Given the description of an element on the screen output the (x, y) to click on. 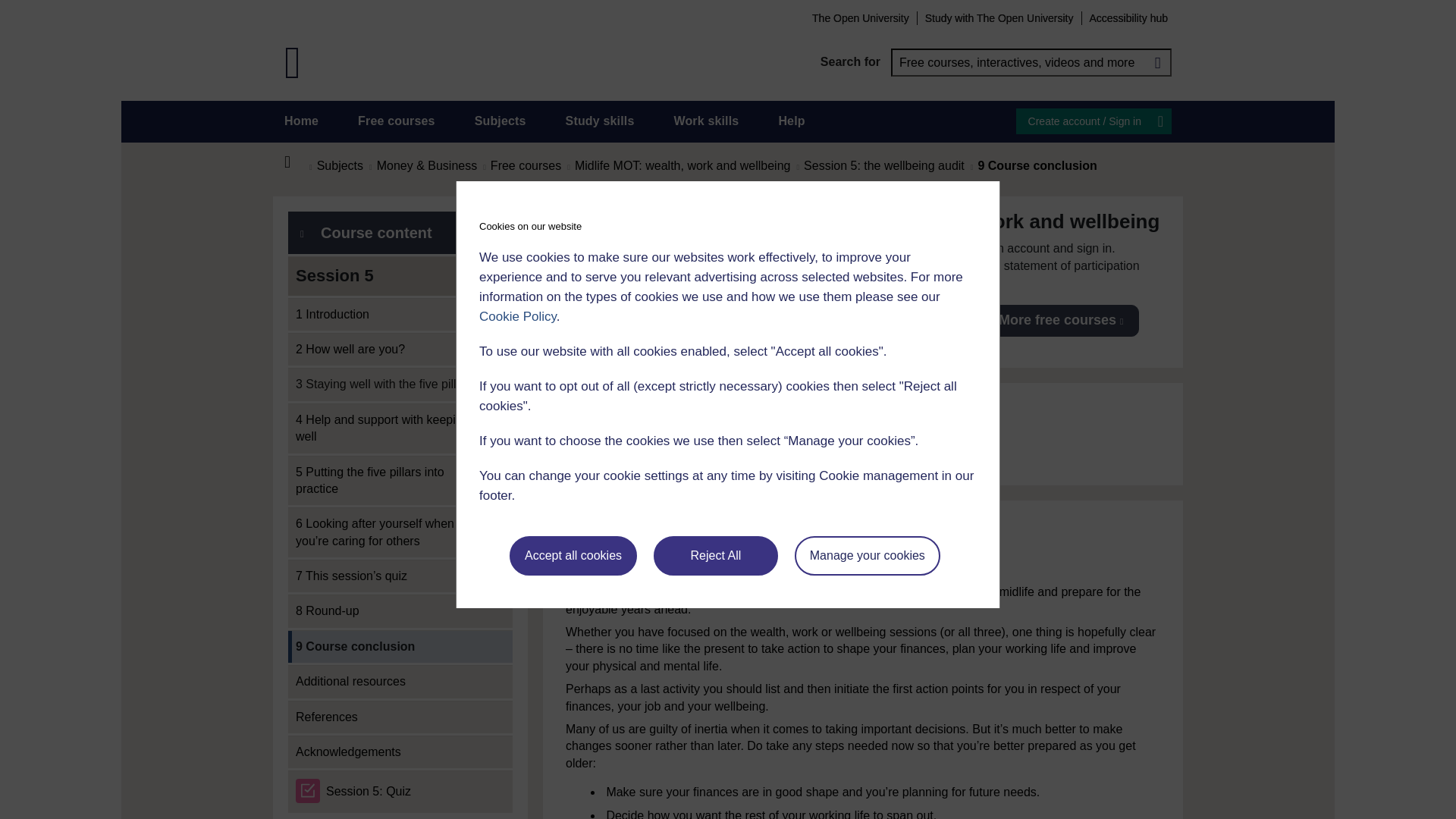
Accept all cookies (573, 555)
Search (1157, 62)
Study with The Open University (999, 17)
Help (791, 120)
Free courses (396, 120)
The Open University (860, 17)
Accessibility hub (1129, 17)
Work skills (705, 120)
Cookie Policy (517, 316)
Home (300, 120)
